Given the description of an element on the screen output the (x, y) to click on. 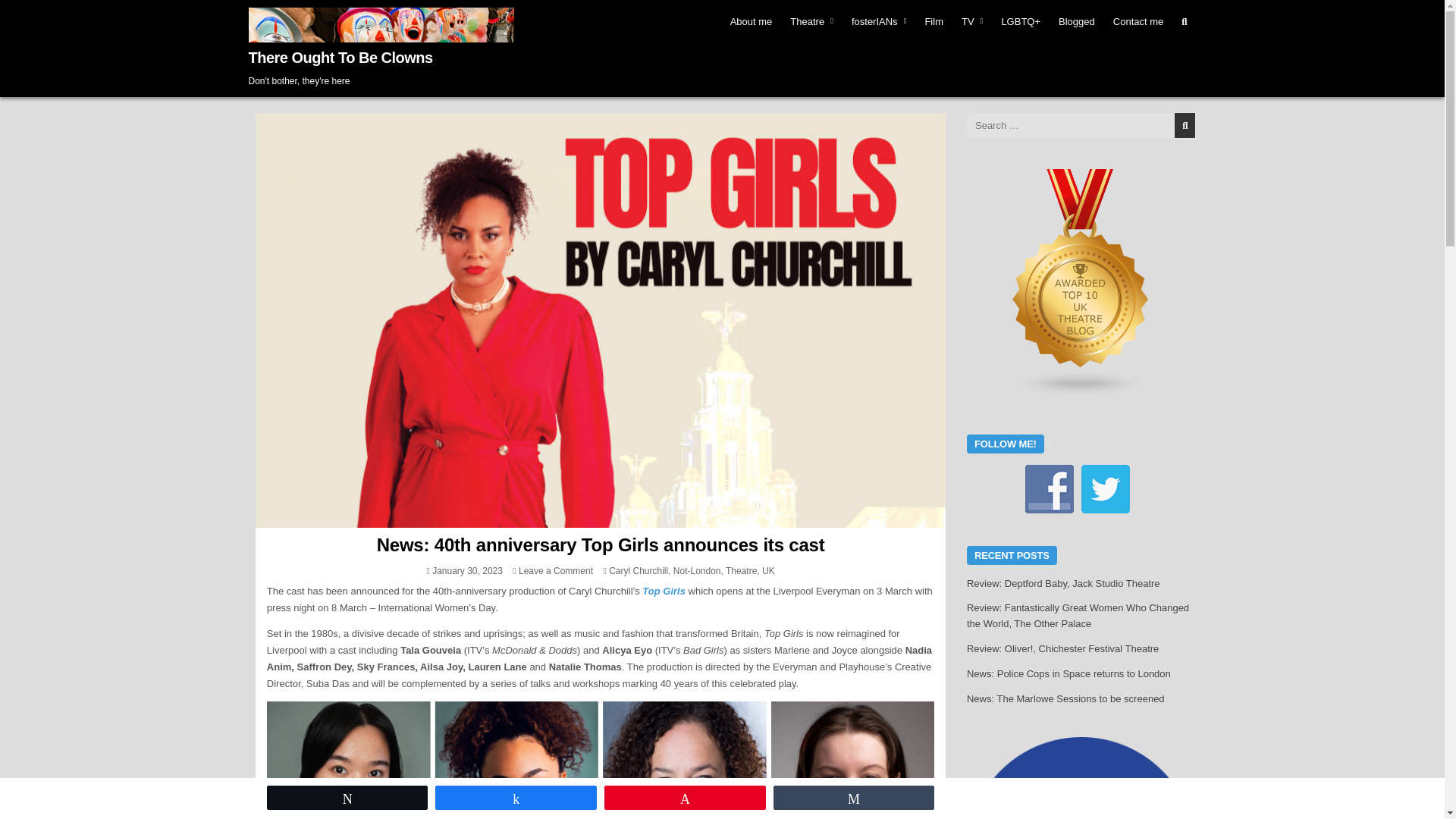
About me (750, 21)
There Ought To Be Clowns (340, 57)
Theatre (811, 21)
